Given the description of an element on the screen output the (x, y) to click on. 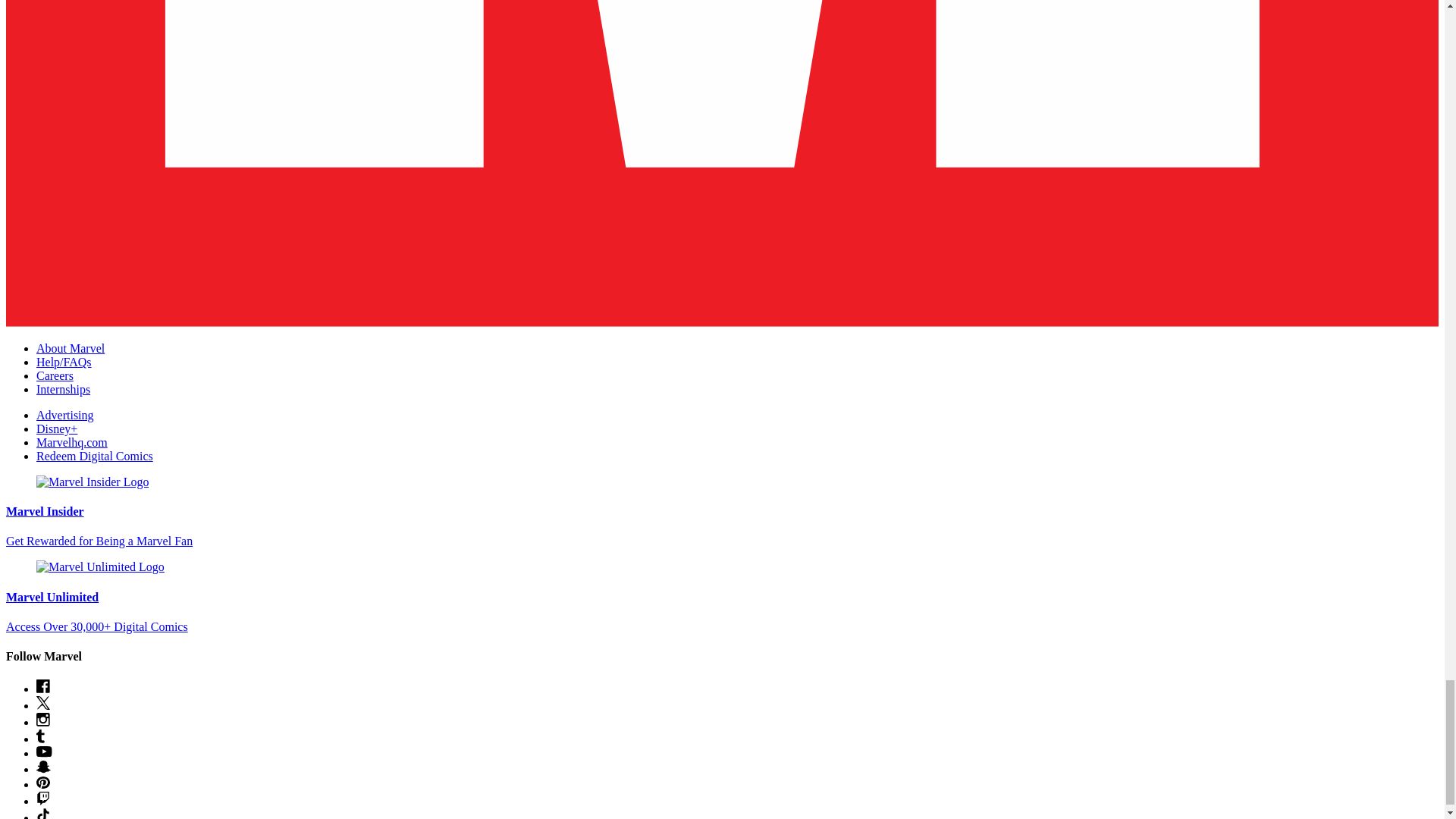
Marvelhq.com (71, 441)
Advertising (65, 414)
About Marvel (70, 348)
Redeem Digital Comics (94, 455)
Internships (63, 389)
Careers (55, 375)
